Given the description of an element on the screen output the (x, y) to click on. 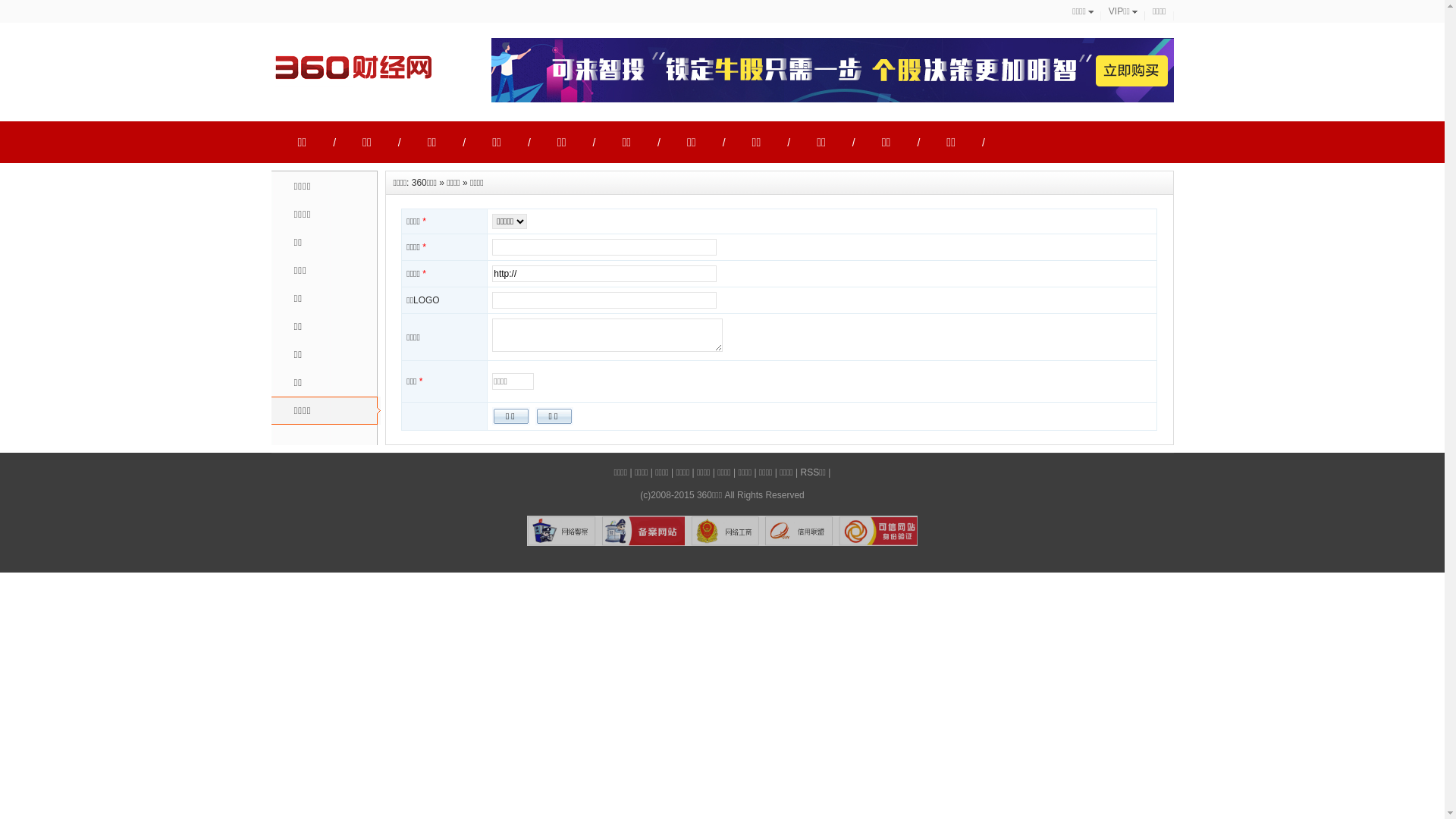
  Element type: text (1358, 705)
